Given the description of an element on the screen output the (x, y) to click on. 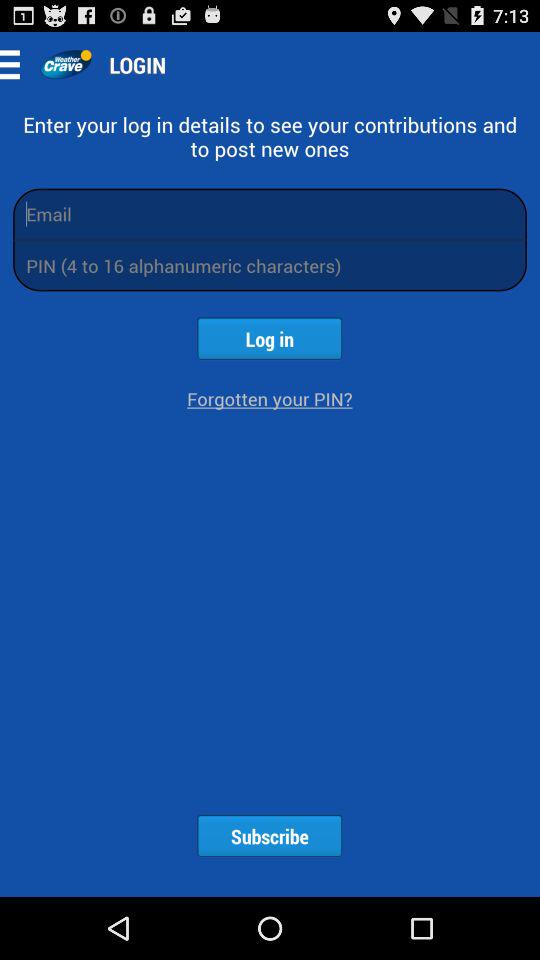
type in pin code (269, 265)
